Given the description of an element on the screen output the (x, y) to click on. 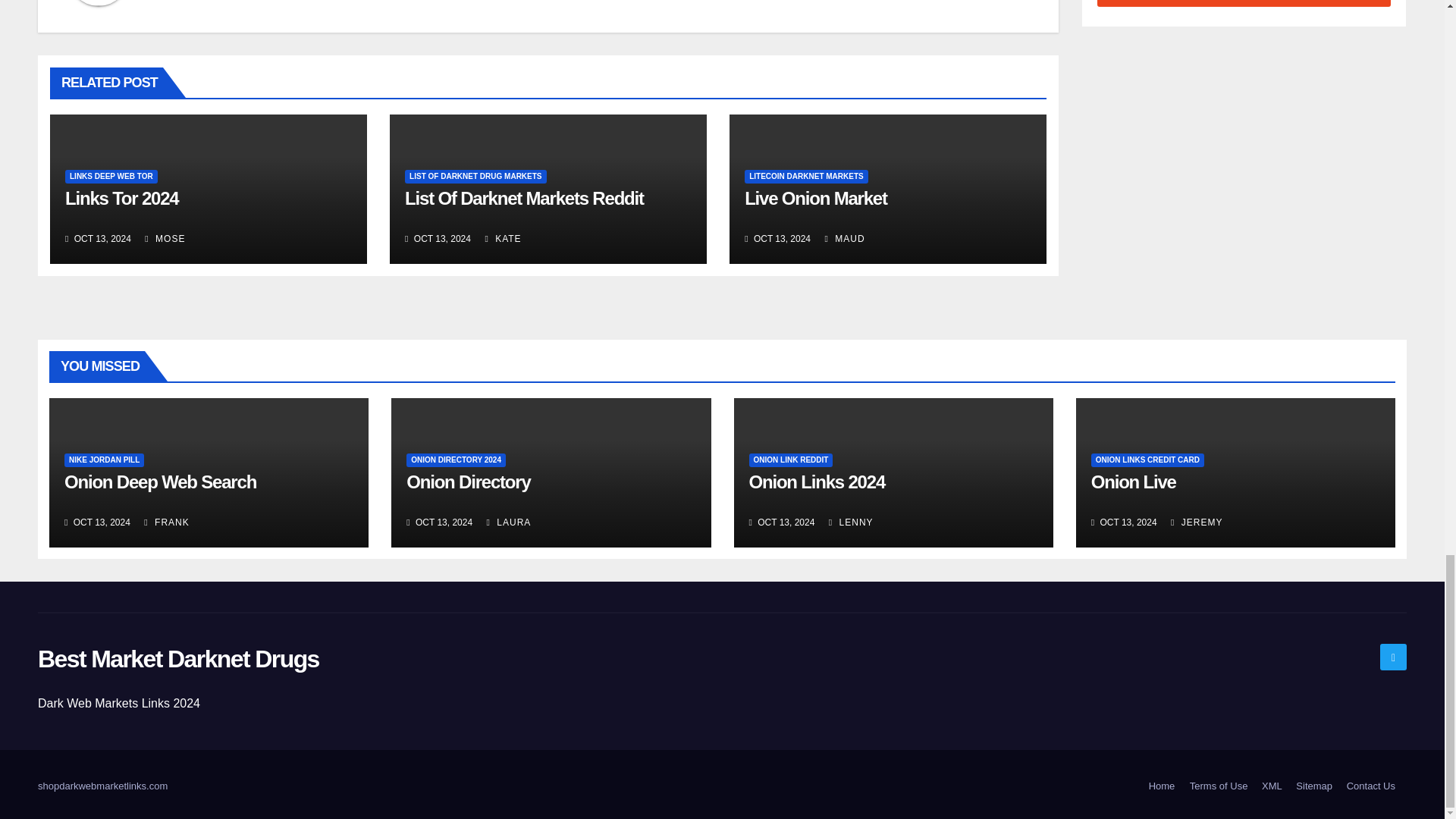
Permalink to: List Of Darknet Markets 2024 (523, 198)
Permalink to: Links Tor 2024 (122, 198)
Permalink to: Live Darknet Markets (815, 198)
